Given the description of an element on the screen output the (x, y) to click on. 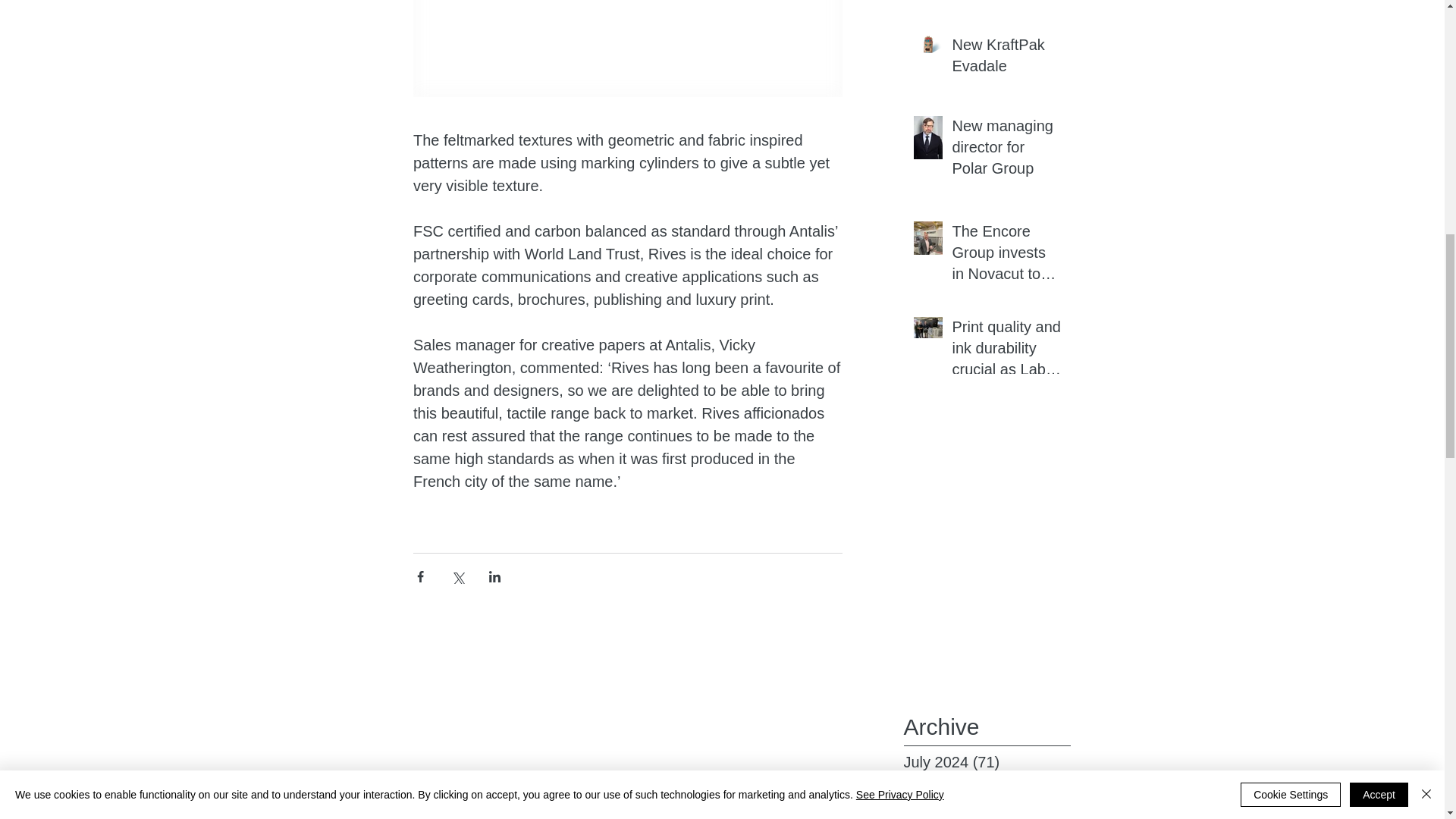
New managing director for Polar Group (1006, 150)
New KraftPak Evadale (1006, 58)
